Given the description of an element on the screen output the (x, y) to click on. 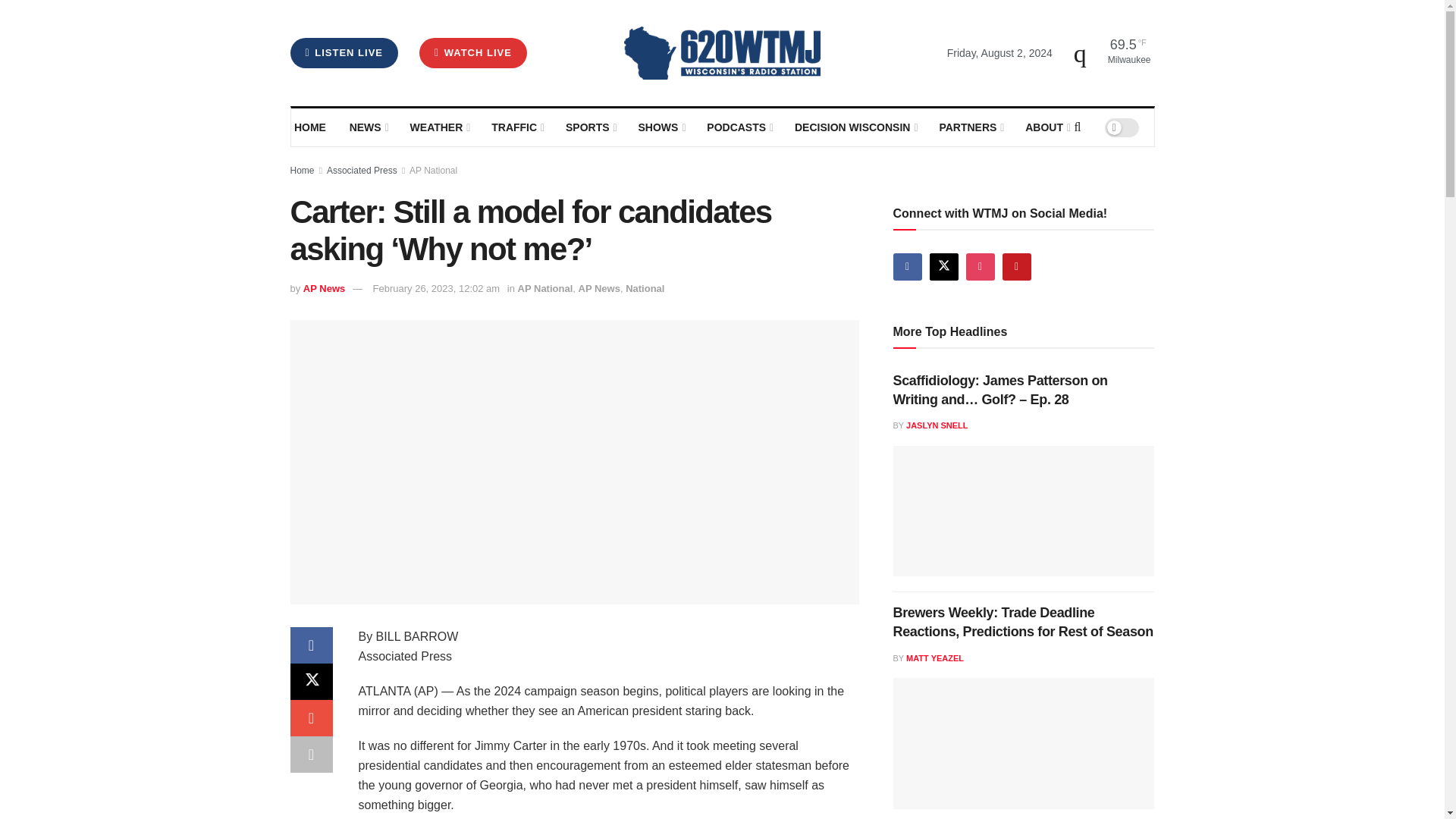
TRAFFIC (516, 127)
SPORTS (589, 127)
WEATHER (438, 127)
NEWS (368, 127)
LISTEN LIVE (343, 52)
WATCH LIVE (473, 52)
HOME (310, 127)
